Given the description of an element on the screen output the (x, y) to click on. 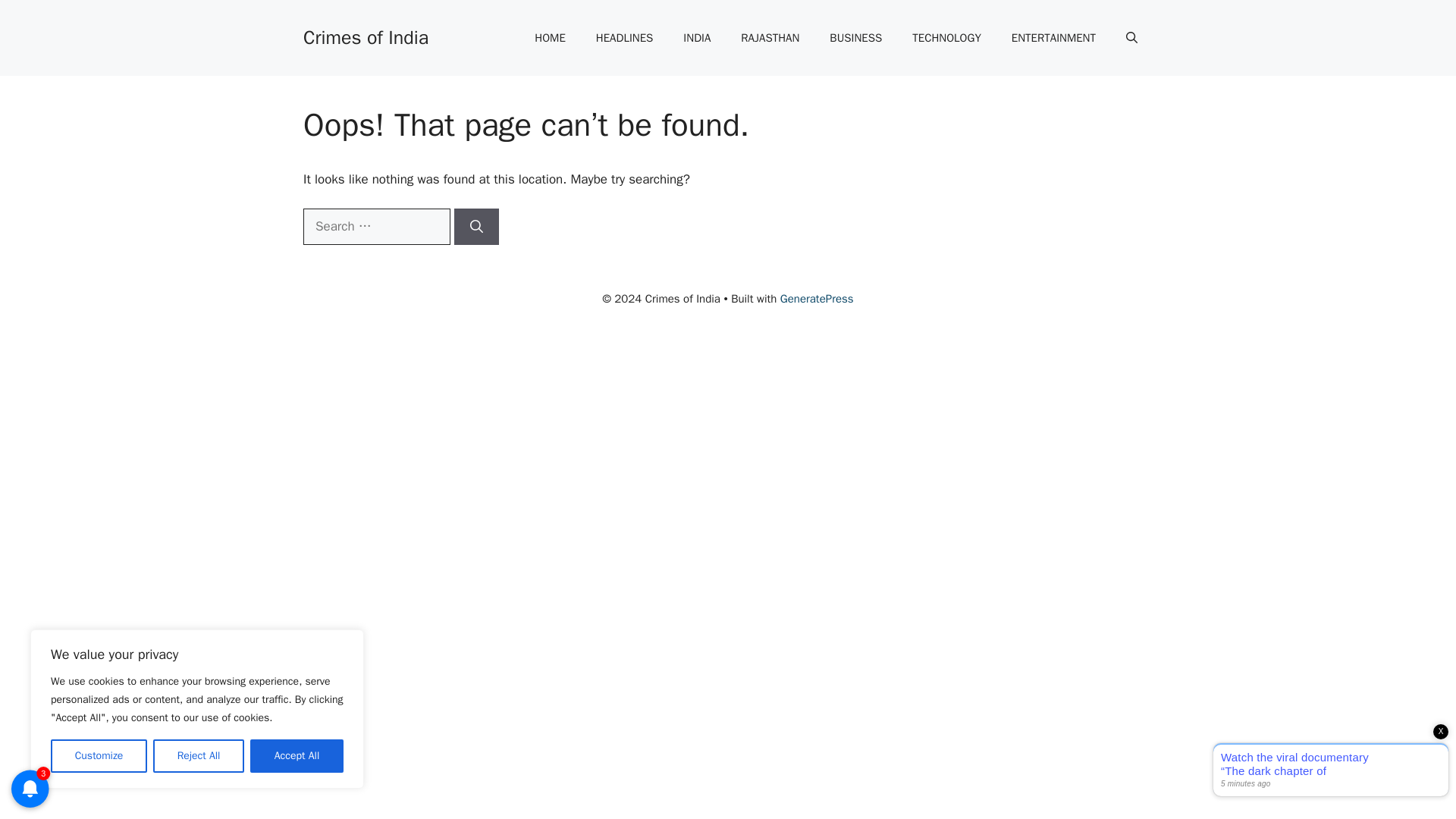
Search for: (375, 226)
GeneratePress (816, 298)
BUSINESS (854, 37)
Crimes of India (365, 37)
TECHNOLOGY (945, 37)
HOME (549, 37)
RAJASTHAN (769, 37)
ENTERTAINMENT (1052, 37)
HEADLINES (624, 37)
INDIA (696, 37)
